Given the description of an element on the screen output the (x, y) to click on. 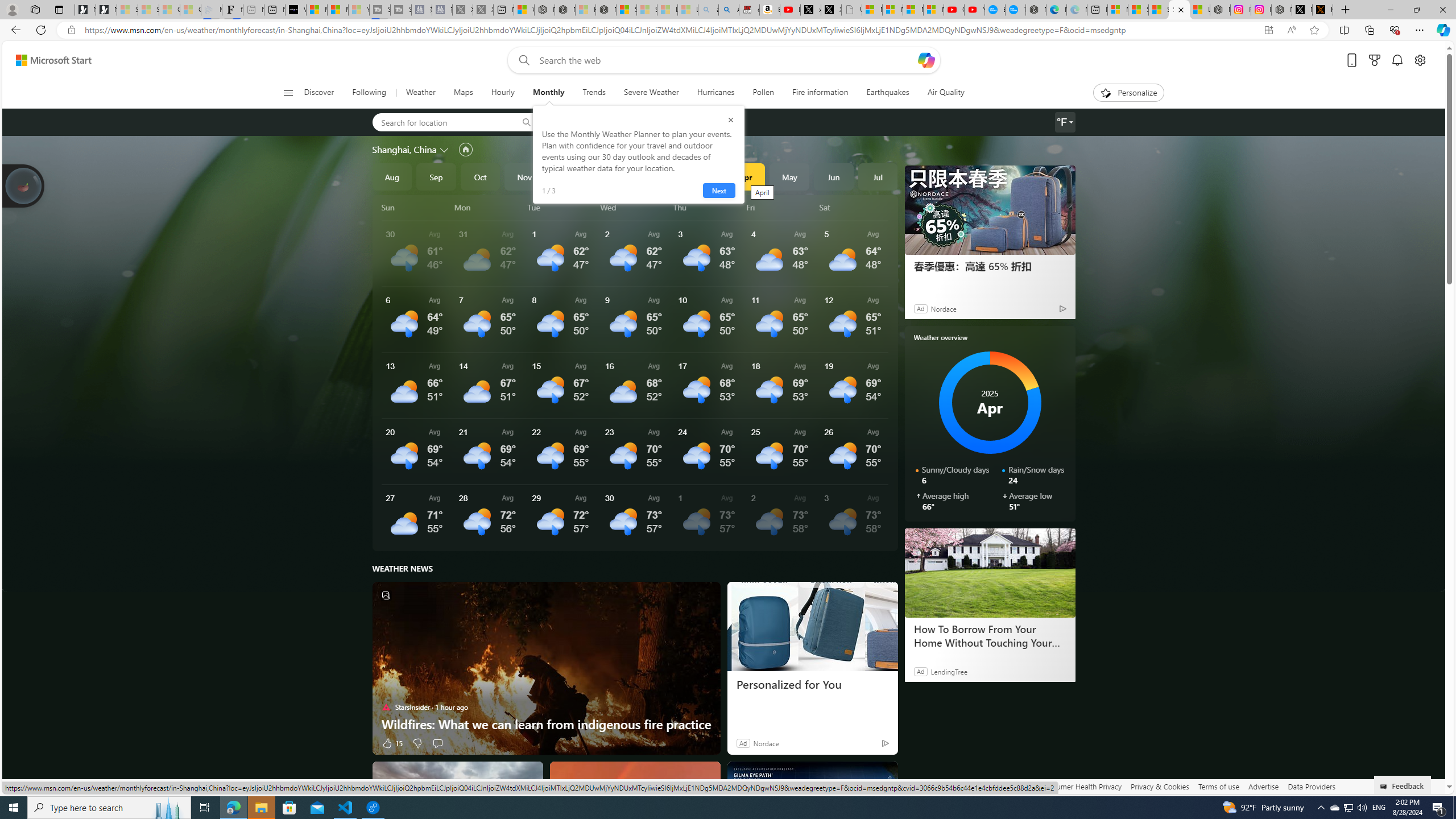
Aug (391, 176)
App bar (728, 29)
15 Like (392, 742)
2025Jan (612, 176)
Fire information (820, 92)
Open navigation menu (287, 92)
Hourly (502, 92)
StarsInsider (385, 706)
